Given the description of an element on the screen output the (x, y) to click on. 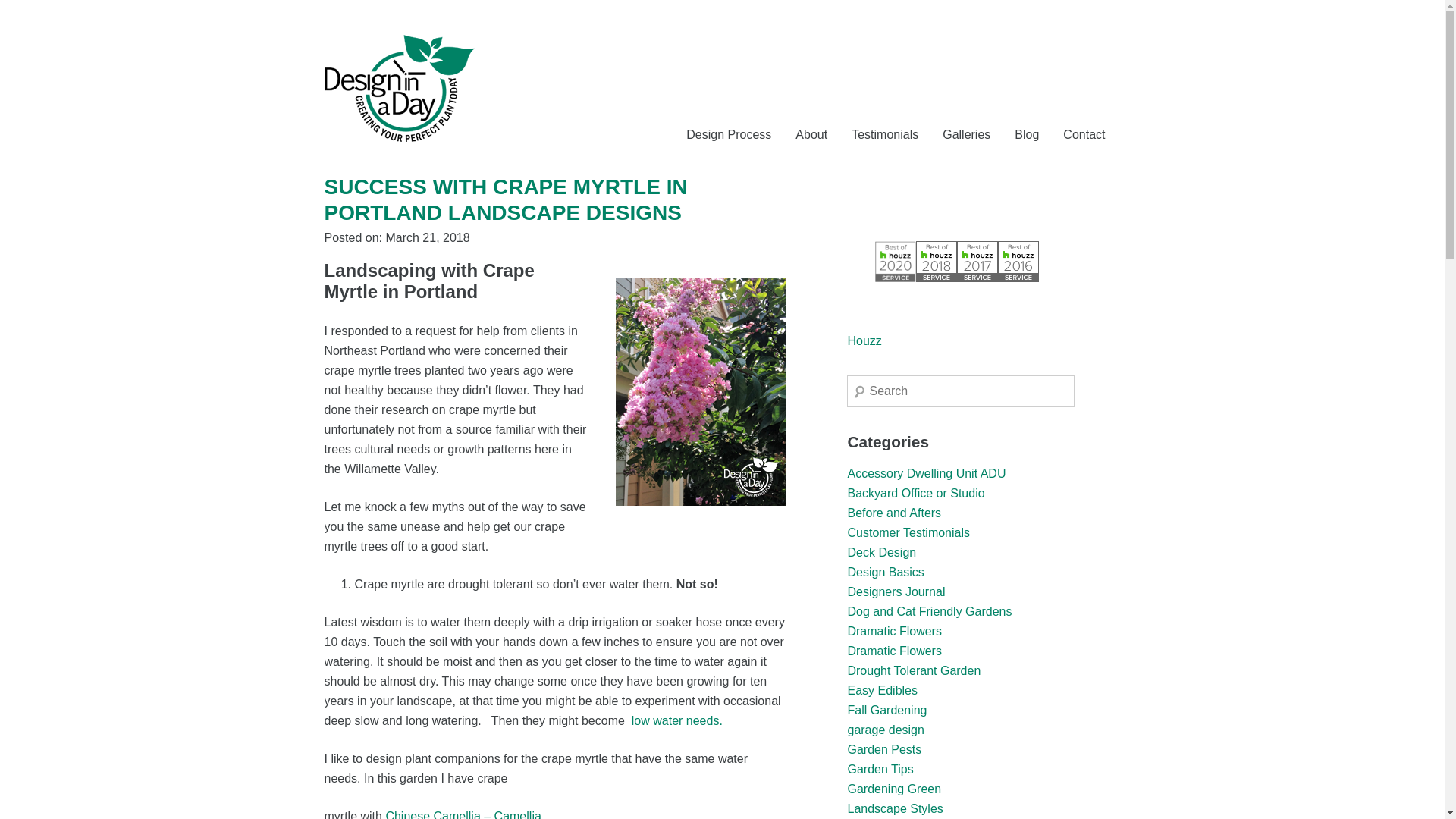
About (810, 134)
low water needs. (676, 720)
Houzz (863, 340)
Backyard Office or Studio (915, 492)
Before and Afters (893, 512)
Testimonials (885, 134)
Design Process (728, 134)
SUCCESS WITH CRAPE MYRTLE IN PORTLAND LANDSCAPE DESIGNS (505, 199)
Accessory Dwelling Unit ADU (926, 472)
Contact (1083, 134)
Galleries (965, 134)
Blog (1027, 134)
